Given the description of an element on the screen output the (x, y) to click on. 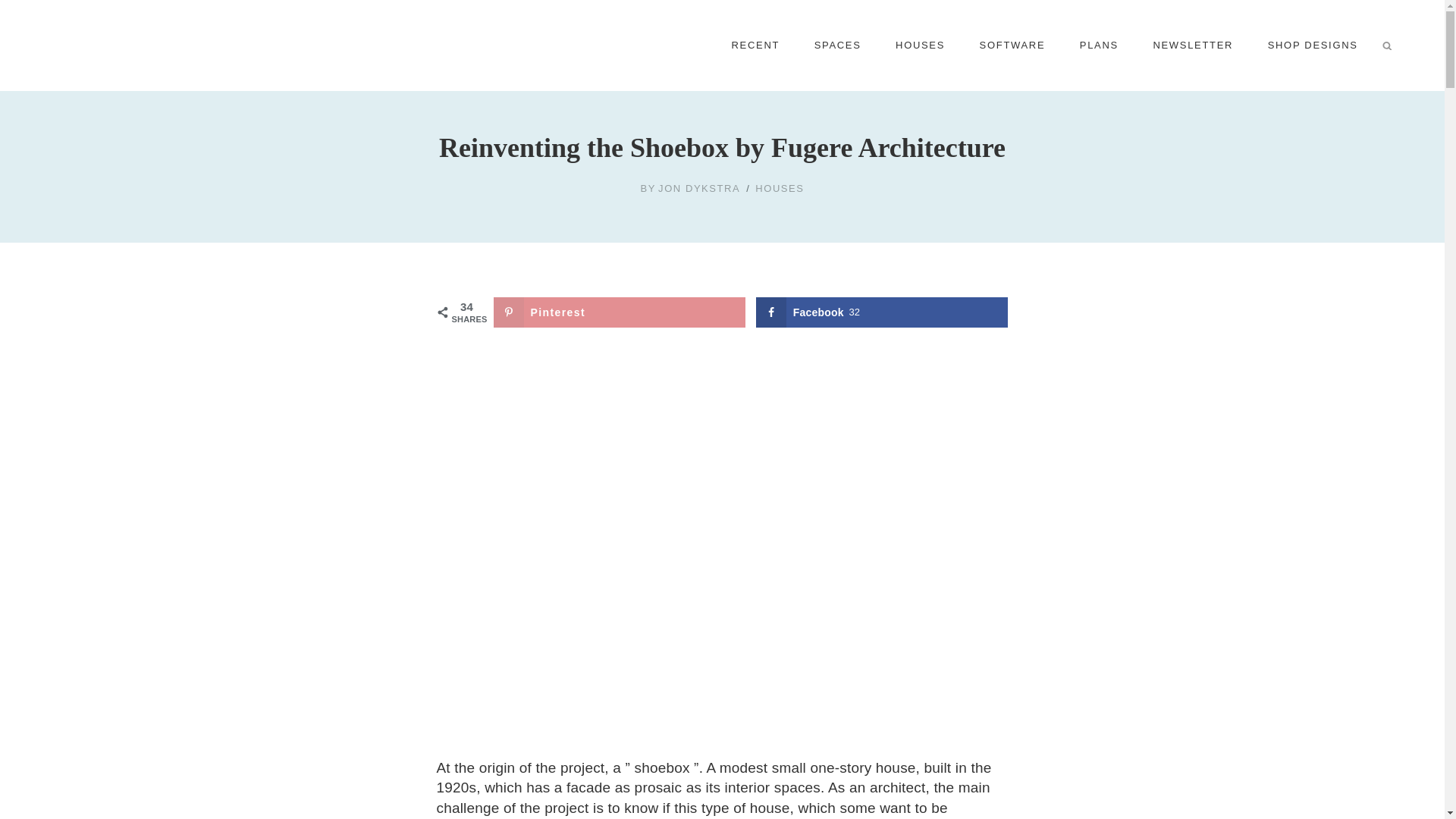
RECENT (755, 45)
Share on Facebook (882, 312)
SPACES (836, 45)
Save to Pinterest (619, 312)
